Given the description of an element on the screen output the (x, y) to click on. 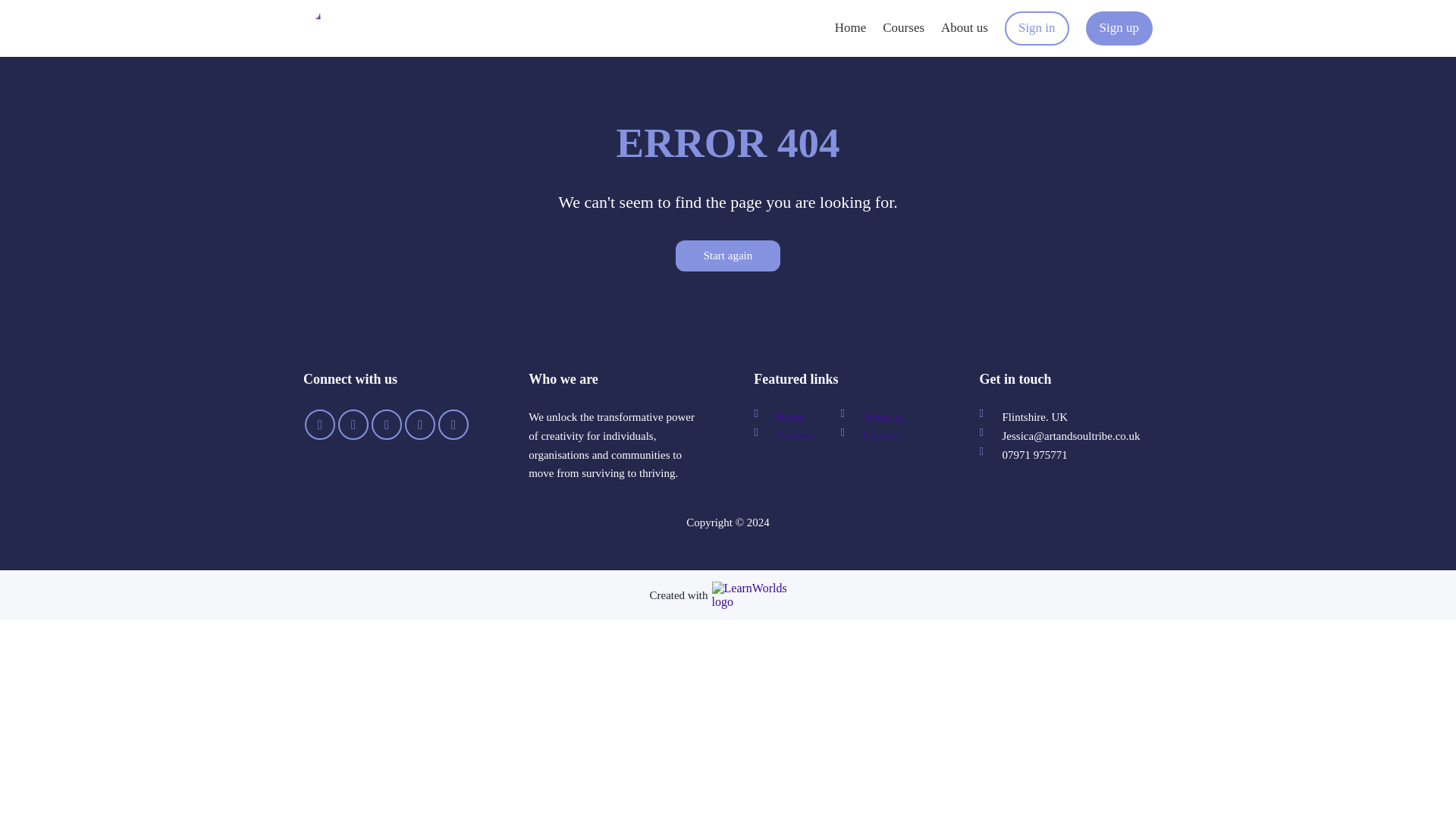
Home (785, 416)
Courses (903, 27)
Sign up (1119, 28)
About us (878, 416)
Start again (727, 255)
Cookies (876, 435)
Sign in (1036, 28)
About us (964, 27)
Courses (788, 435)
Home (850, 27)
